Given the description of an element on the screen output the (x, y) to click on. 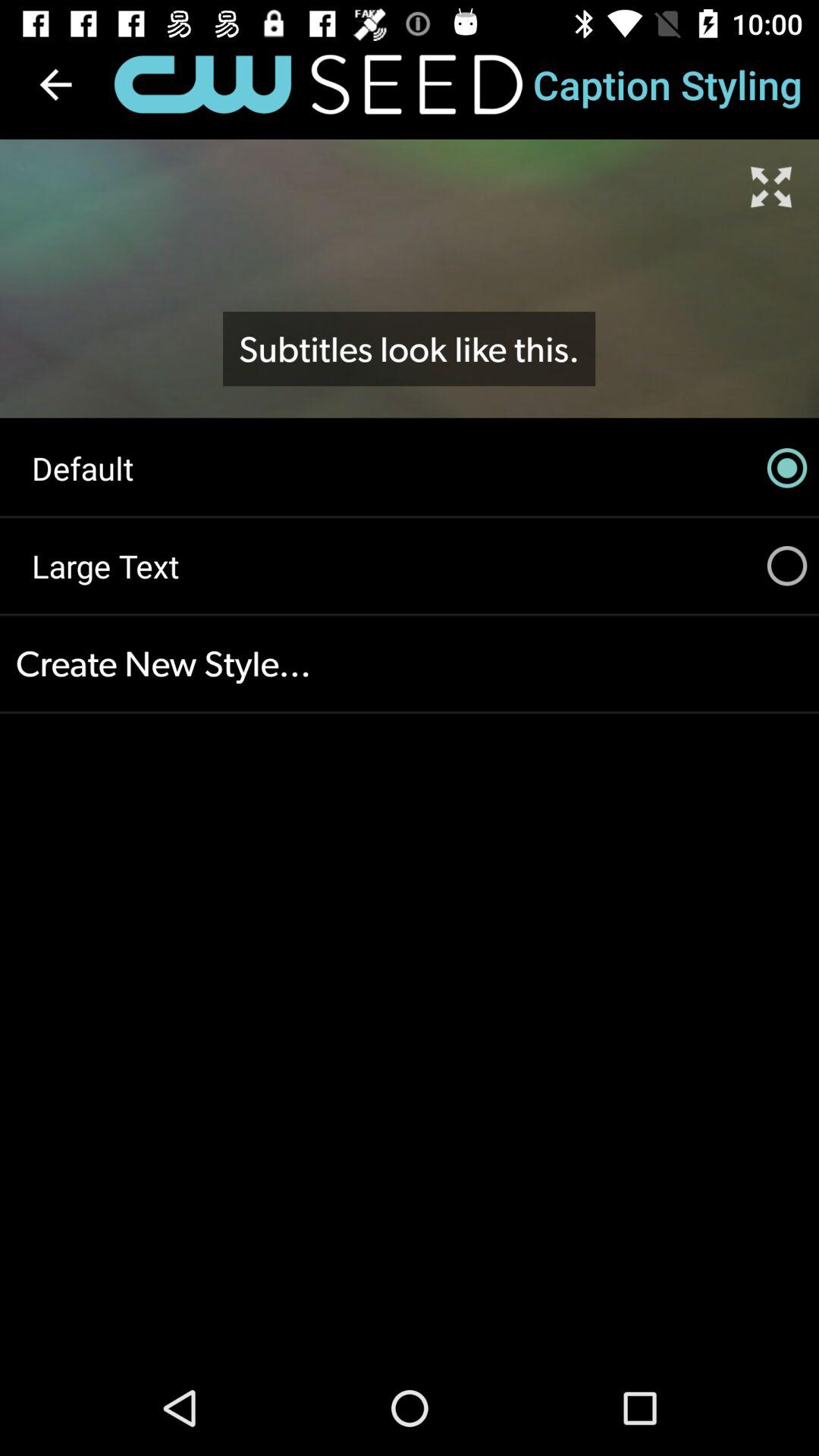
select the icon at the top left corner (55, 84)
